Given the description of an element on the screen output the (x, y) to click on. 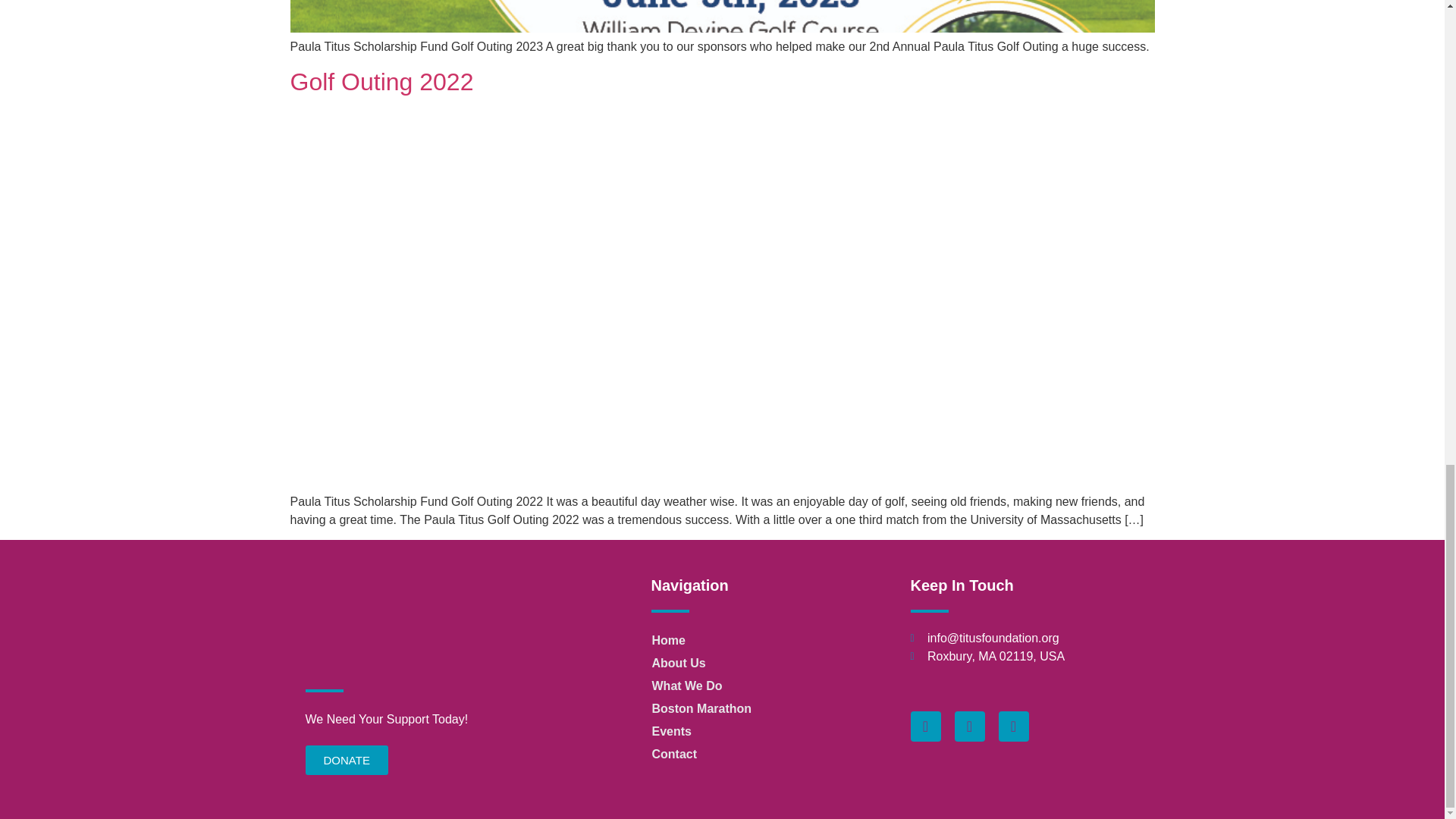
Home (759, 640)
About Us (759, 662)
Golf Outing 2022 (381, 81)
DONATE (345, 759)
